Given the description of an element on the screen output the (x, y) to click on. 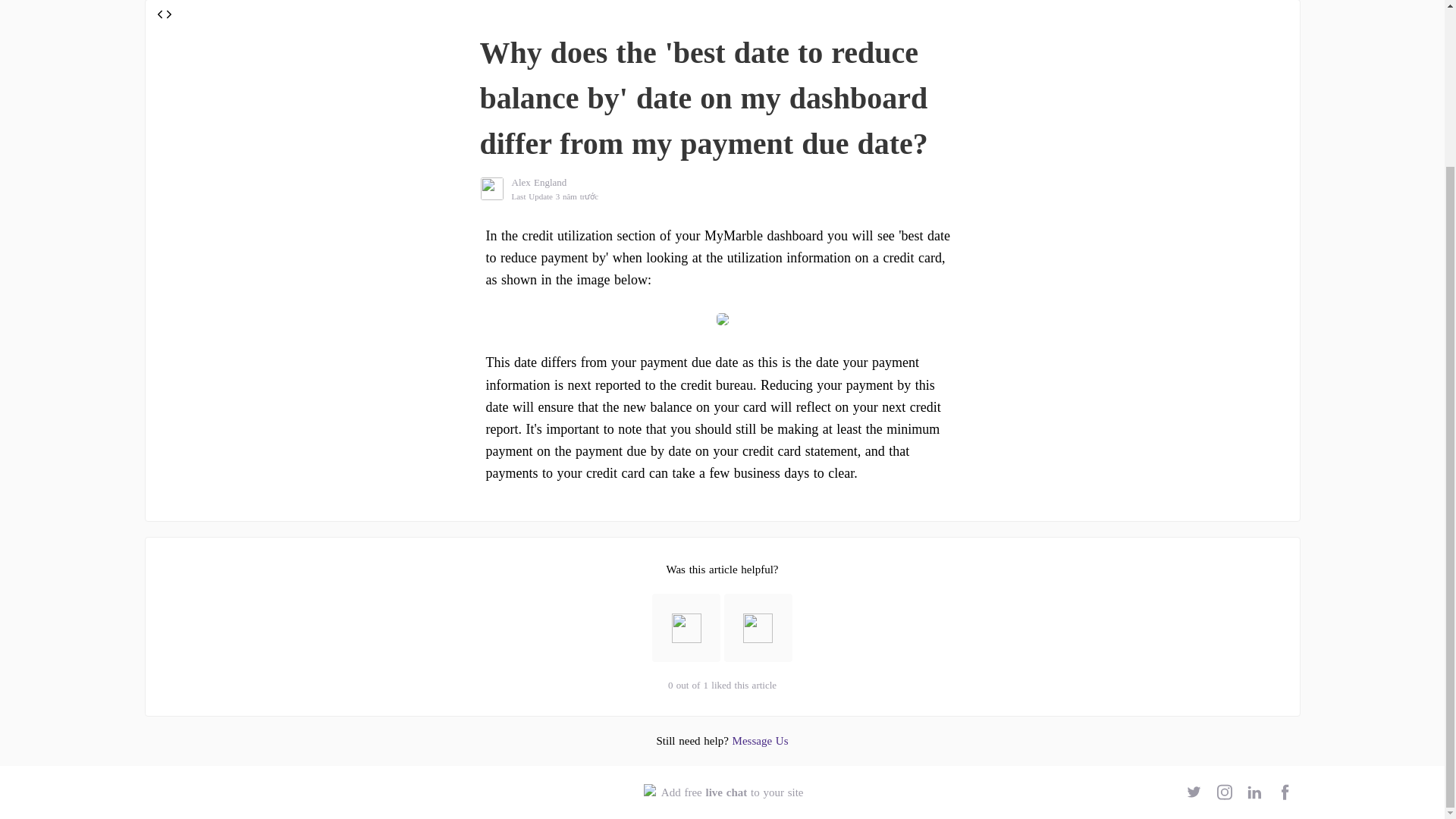
Message Us (721, 791)
